Given the description of an element on the screen output the (x, y) to click on. 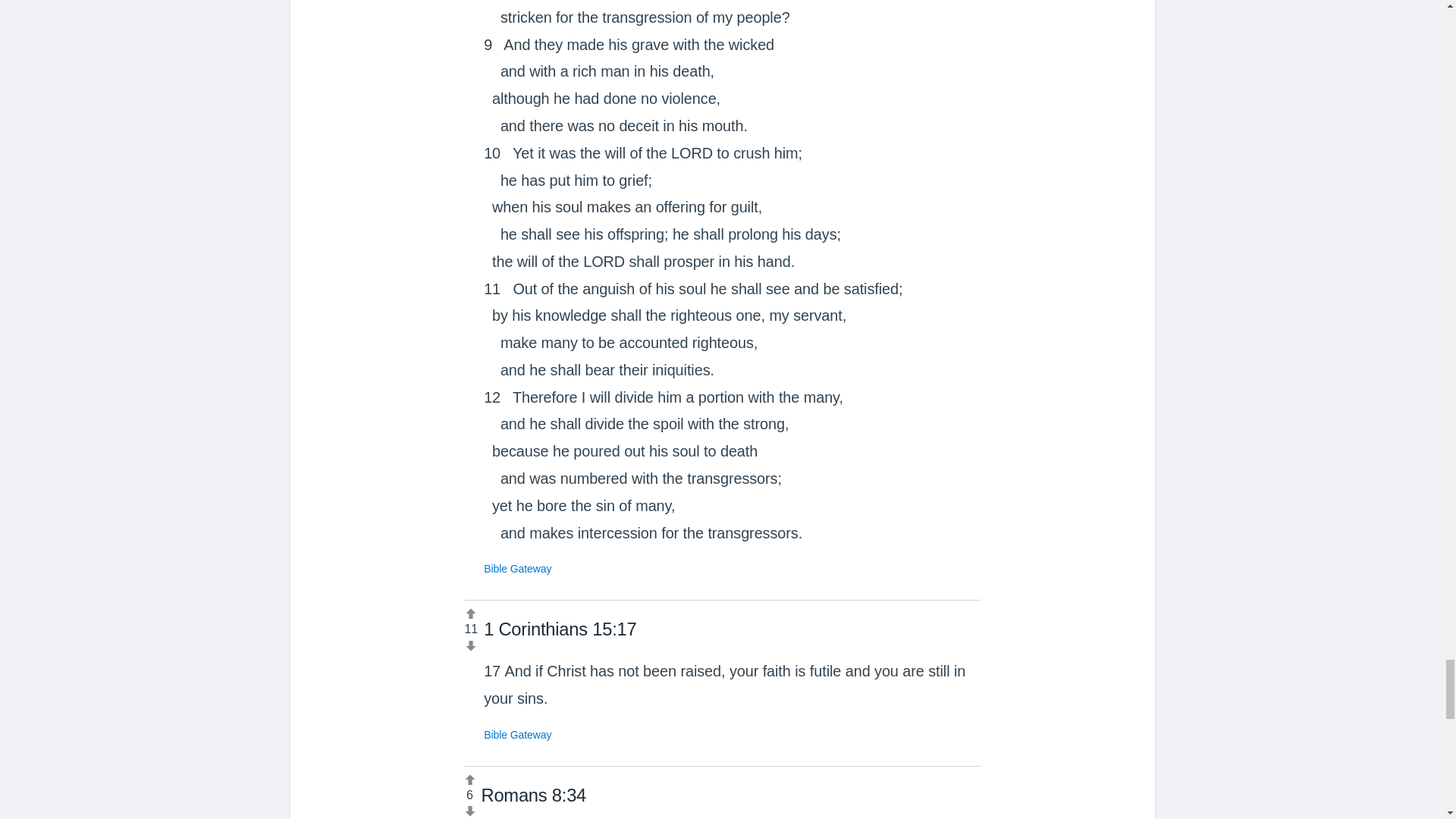
Bible Gateway (517, 568)
Bible Gateway (517, 734)
